Given the description of an element on the screen output the (x, y) to click on. 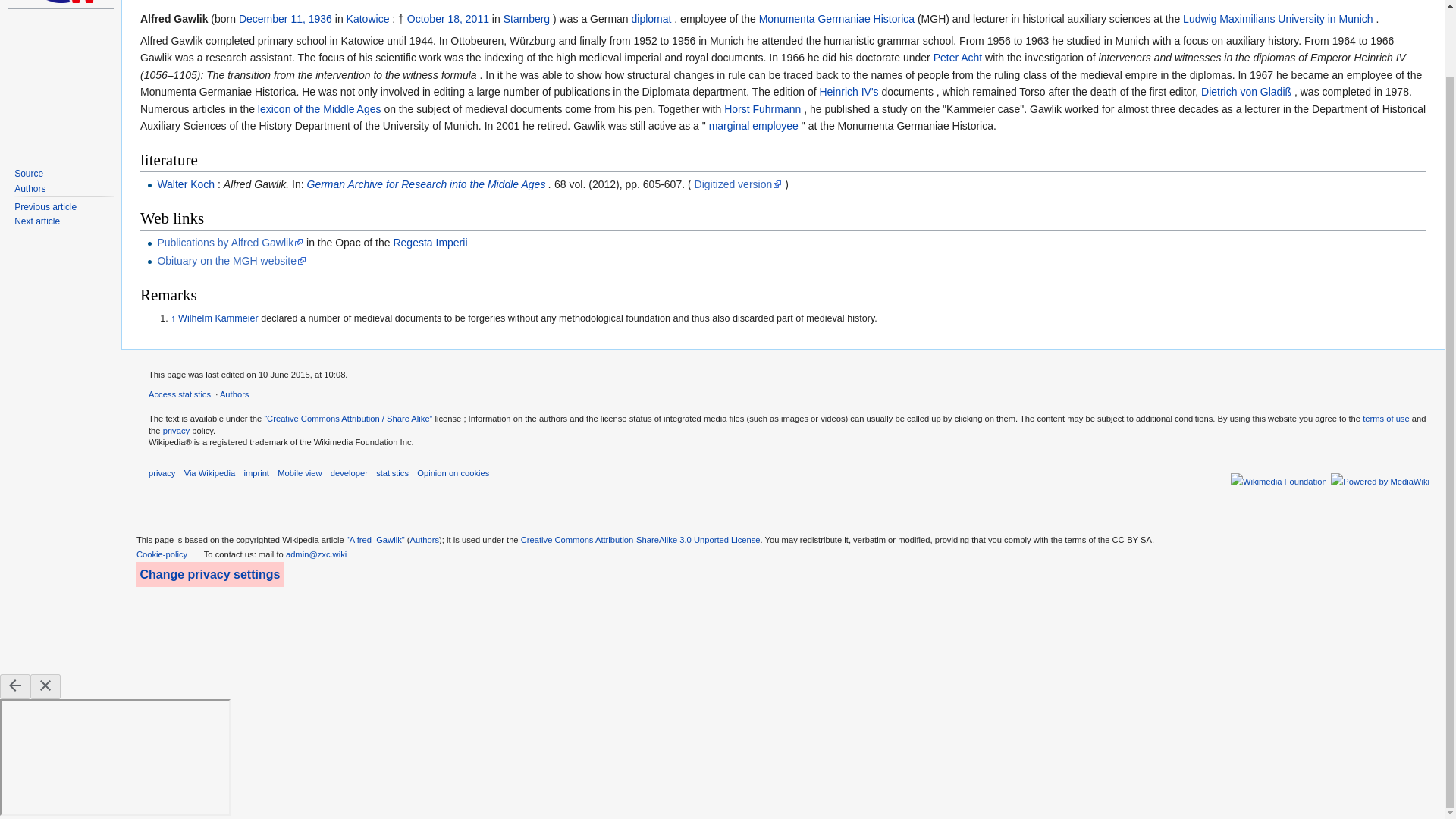
Monumenta Germaniae Historica (836, 19)
Next article (36, 221)
Waterhouse Road (45, 206)
Ludwig Maximilians University in Munich (1277, 19)
2011 (477, 19)
Horst Fuhrmann (761, 109)
Starnberg (526, 19)
Via Wikipedia (209, 472)
Obituary on the MGH website (231, 260)
diplomat (651, 19)
